Given the description of an element on the screen output the (x, y) to click on. 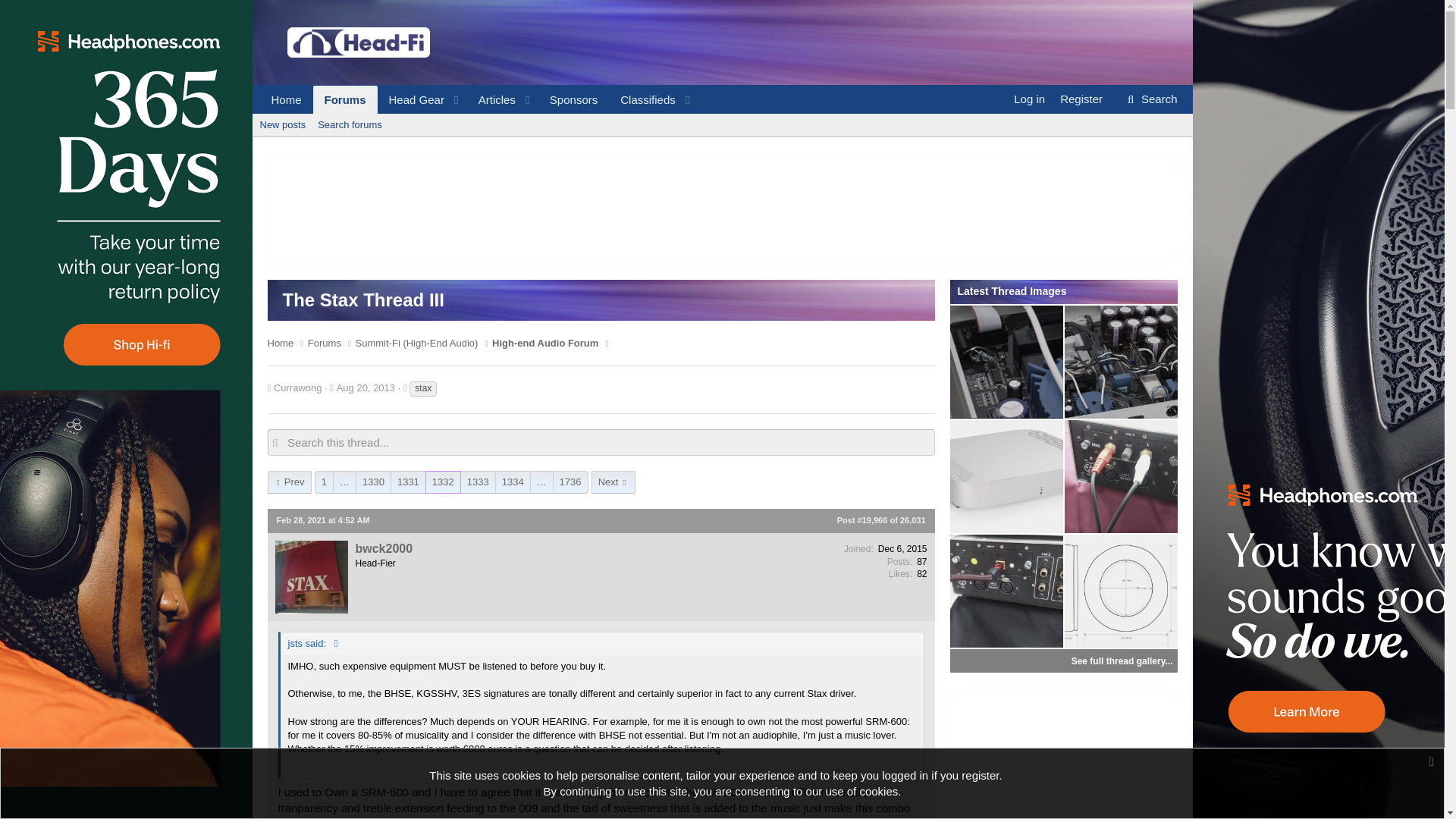
Log in (1029, 99)
3rd party ad content (1062, 753)
Search forums (349, 124)
Sponsors (573, 99)
Search (477, 99)
Go to page (1150, 99)
Forums (344, 482)
Articles (345, 99)
Head Gear (491, 99)
